Given the description of an element on the screen output the (x, y) to click on. 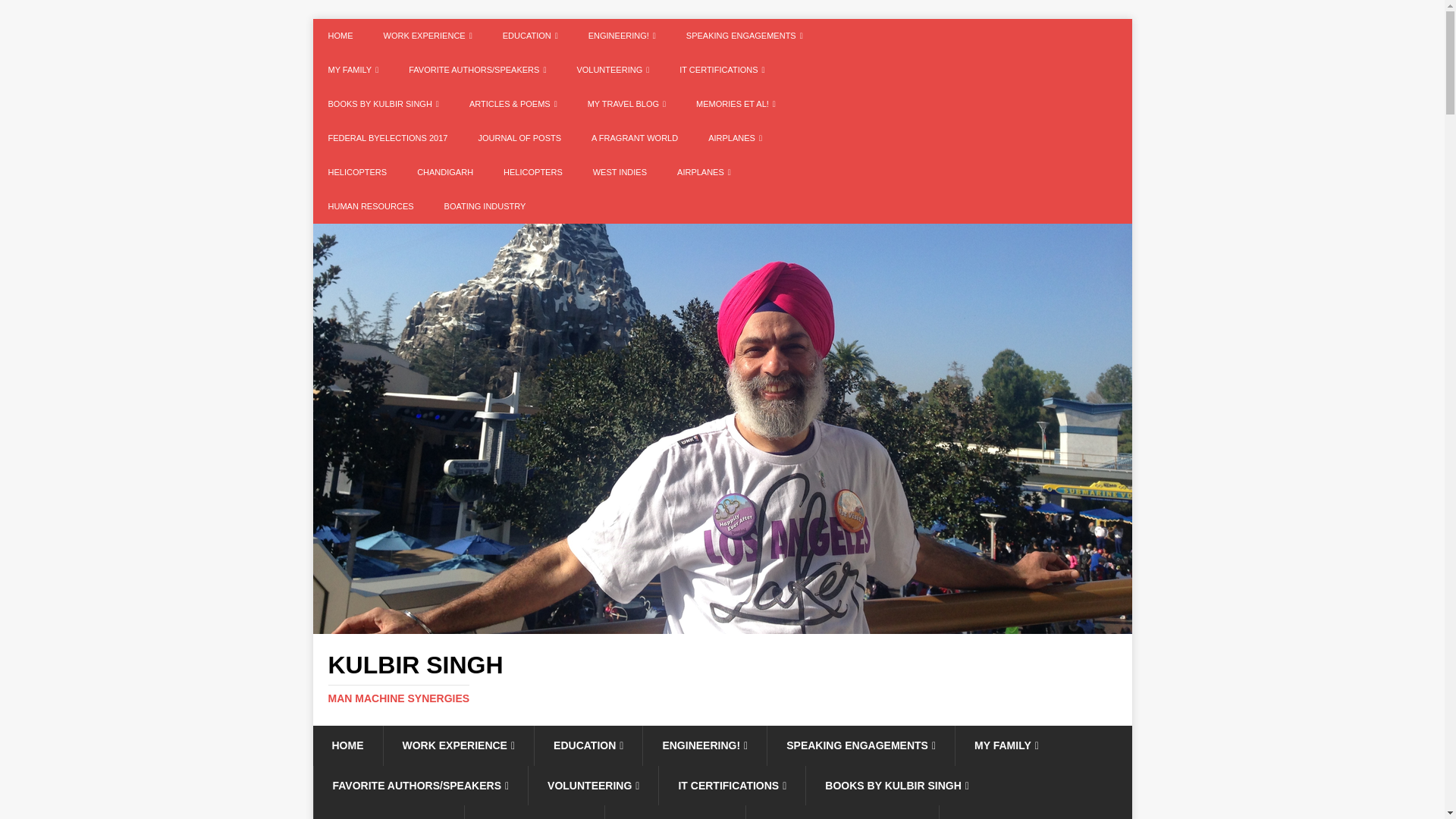
Kulbir Singh (721, 678)
Kulbir Singh (722, 625)
